Given the description of an element on the screen output the (x, y) to click on. 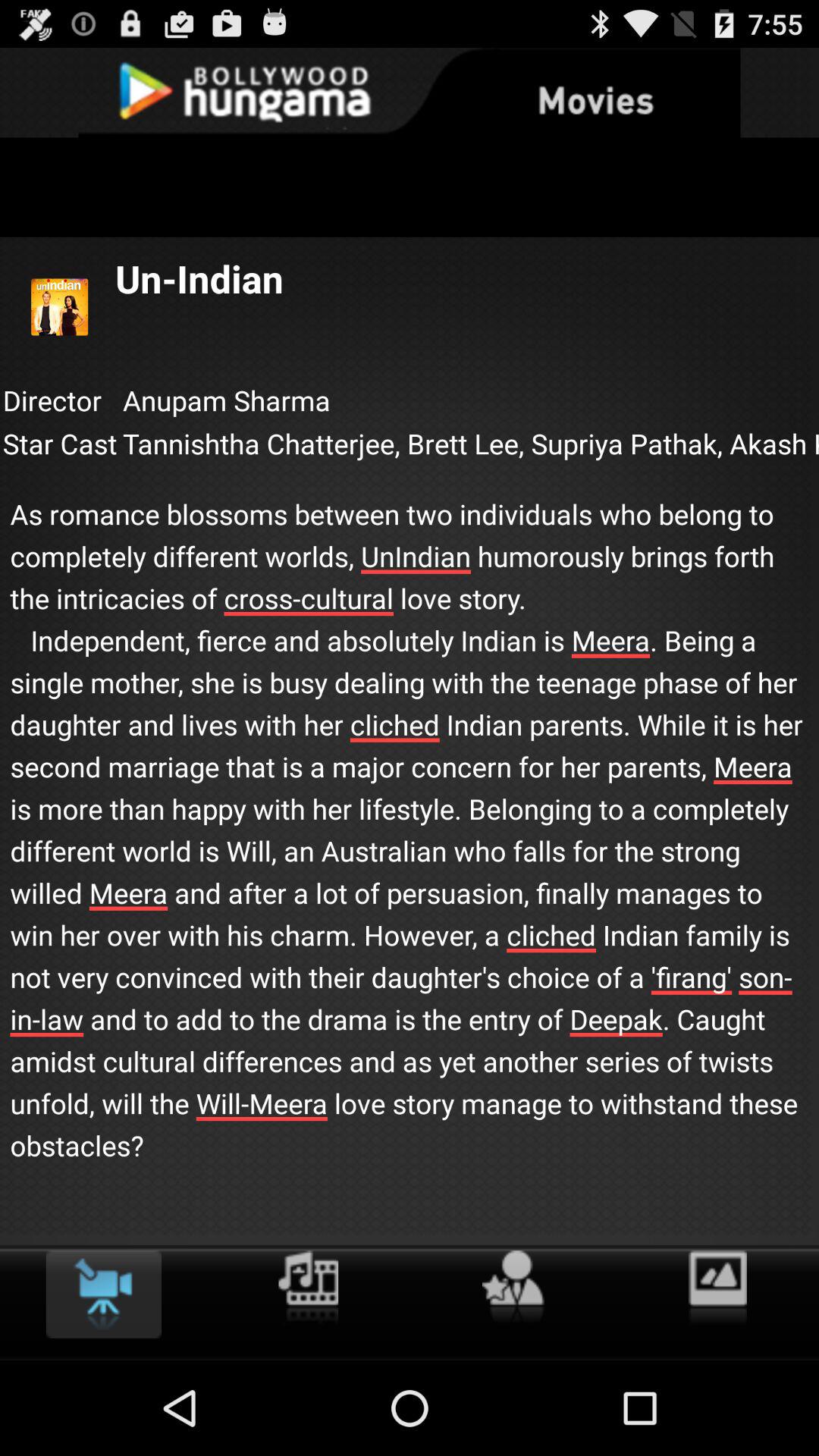
see pictures (717, 1288)
